Given the description of an element on the screen output the (x, y) to click on. 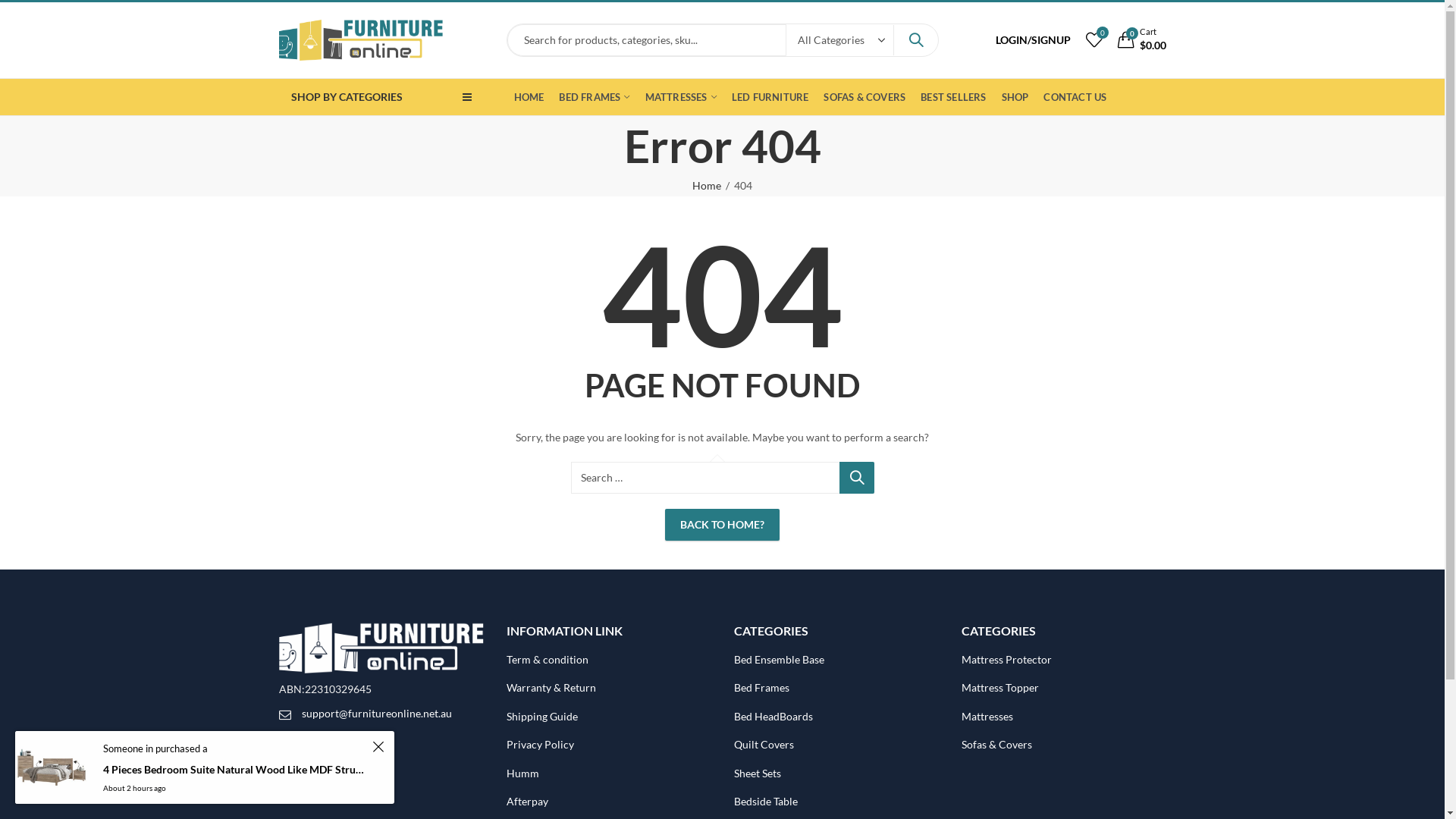
SOFAS & COVERS Element type: text (864, 96)
0 Element type: text (1093, 38)
HOME Element type: text (529, 96)
MATTRESSES Element type: text (680, 96)
Term & condition Element type: text (547, 658)
support@furnitureonline.net.au Element type: text (376, 712)
Mattresses Element type: text (987, 715)
LED FURNITURE Element type: text (770, 96)
Afterpay Element type: text (527, 800)
0
Cart
$0.00 Element type: text (1141, 40)
Bedside Table Element type: text (765, 800)
SEARCH Element type: text (855, 477)
Privacy Policy Element type: text (540, 743)
Bed Frames Element type: text (761, 686)
BEST SELLERS Element type: text (953, 96)
Warranty & Return Element type: text (551, 686)
Sheet Sets Element type: text (757, 772)
Humm Element type: text (522, 772)
BED FRAMES Element type: text (594, 96)
BACK TO HOME? Element type: text (722, 524)
Bed HeadBoards Element type: text (773, 715)
Home Element type: text (706, 185)
SEARCH Element type: text (915, 40)
Quilt Covers Element type: text (763, 743)
SHOP Element type: text (1015, 96)
Mattress Protector Element type: text (1006, 658)
LOGIN/SIGNUP Element type: text (1032, 39)
Sofas & Covers Element type: text (996, 743)
CONTACT US Element type: text (1074, 96)
Mattress Topper Element type: text (999, 686)
Bed Ensemble Base Element type: text (779, 658)
Shipping Guide Element type: text (541, 715)
